Given the description of an element on the screen output the (x, y) to click on. 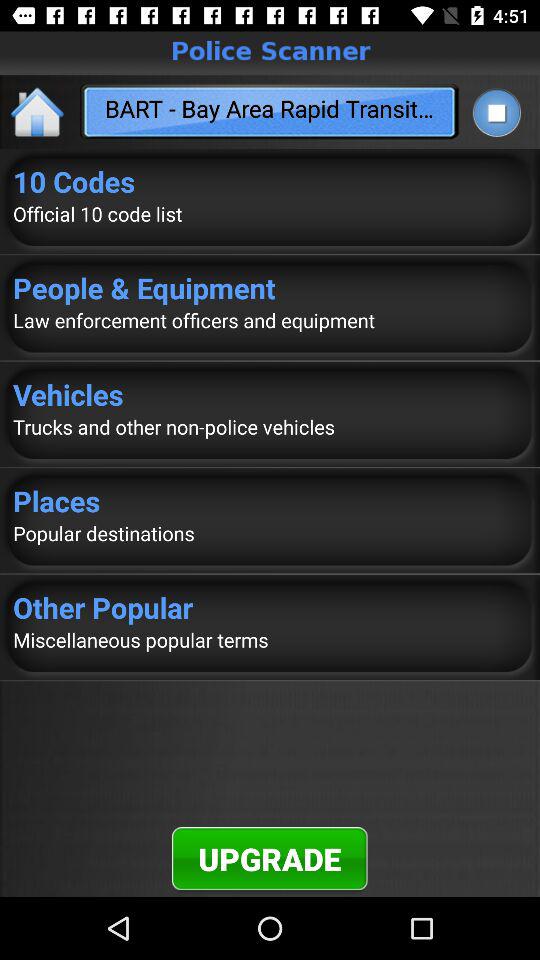
turn off item above the 10 codes icon (496, 111)
